Given the description of an element on the screen output the (x, y) to click on. 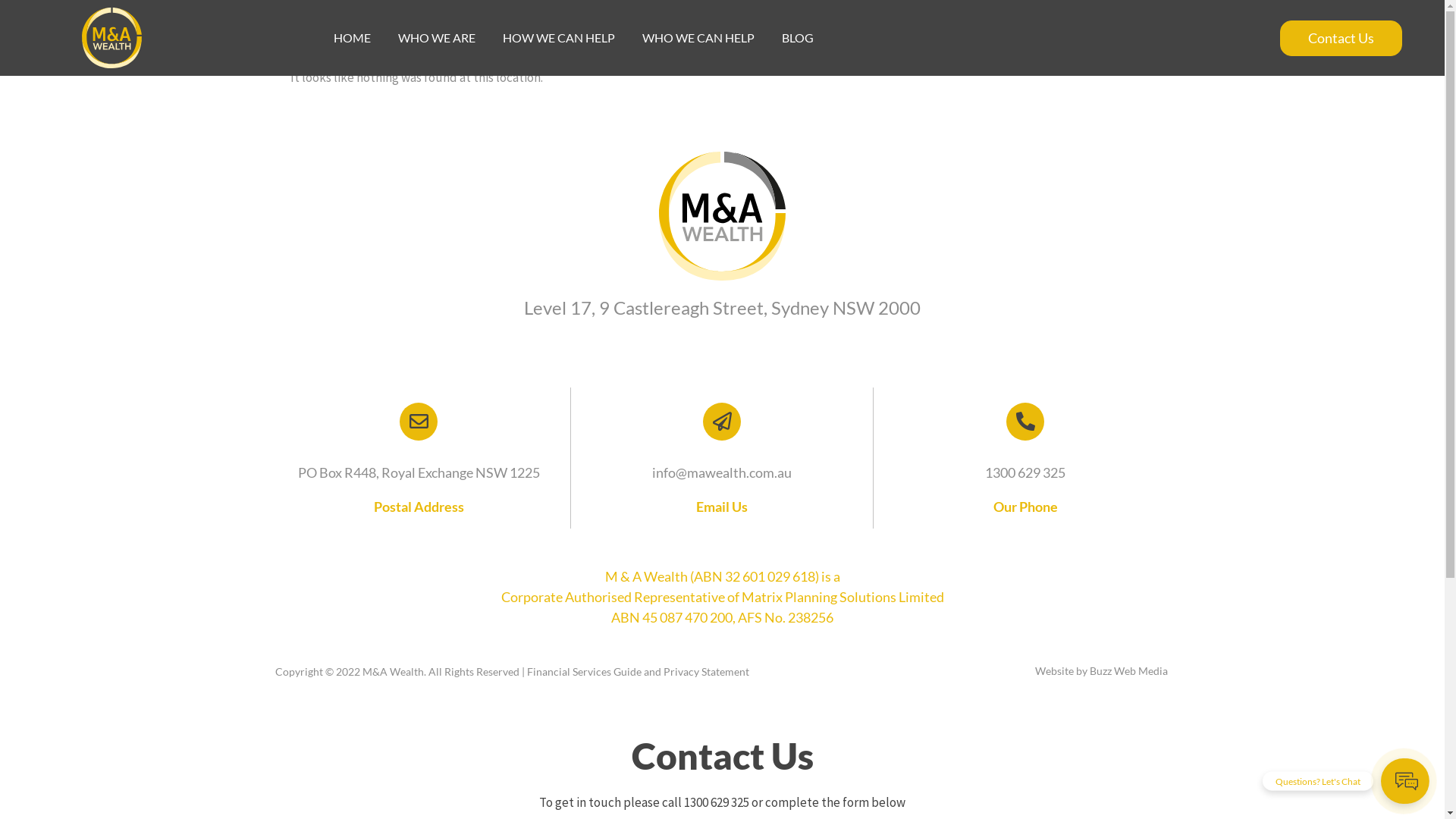
Financial Services Guide and Privacy Statement Element type: text (637, 671)
Website by Buzz Web Media Element type: text (1100, 670)
HOW WE CAN HELP Element type: text (558, 37)
HOME Element type: text (352, 37)
Questions? Let's Chat Element type: text (1403, 780)
info@mawealth.com.au Element type: text (721, 472)
BLOG Element type: text (797, 37)
1300 629 325 Element type: text (1025, 472)
Contact Us Element type: text (1341, 37)
WHO WE ARE Element type: text (436, 37)
WHO WE CAN HELP Element type: text (698, 37)
1300 629 325 Element type: text (716, 801)
